Given the description of an element on the screen output the (x, y) to click on. 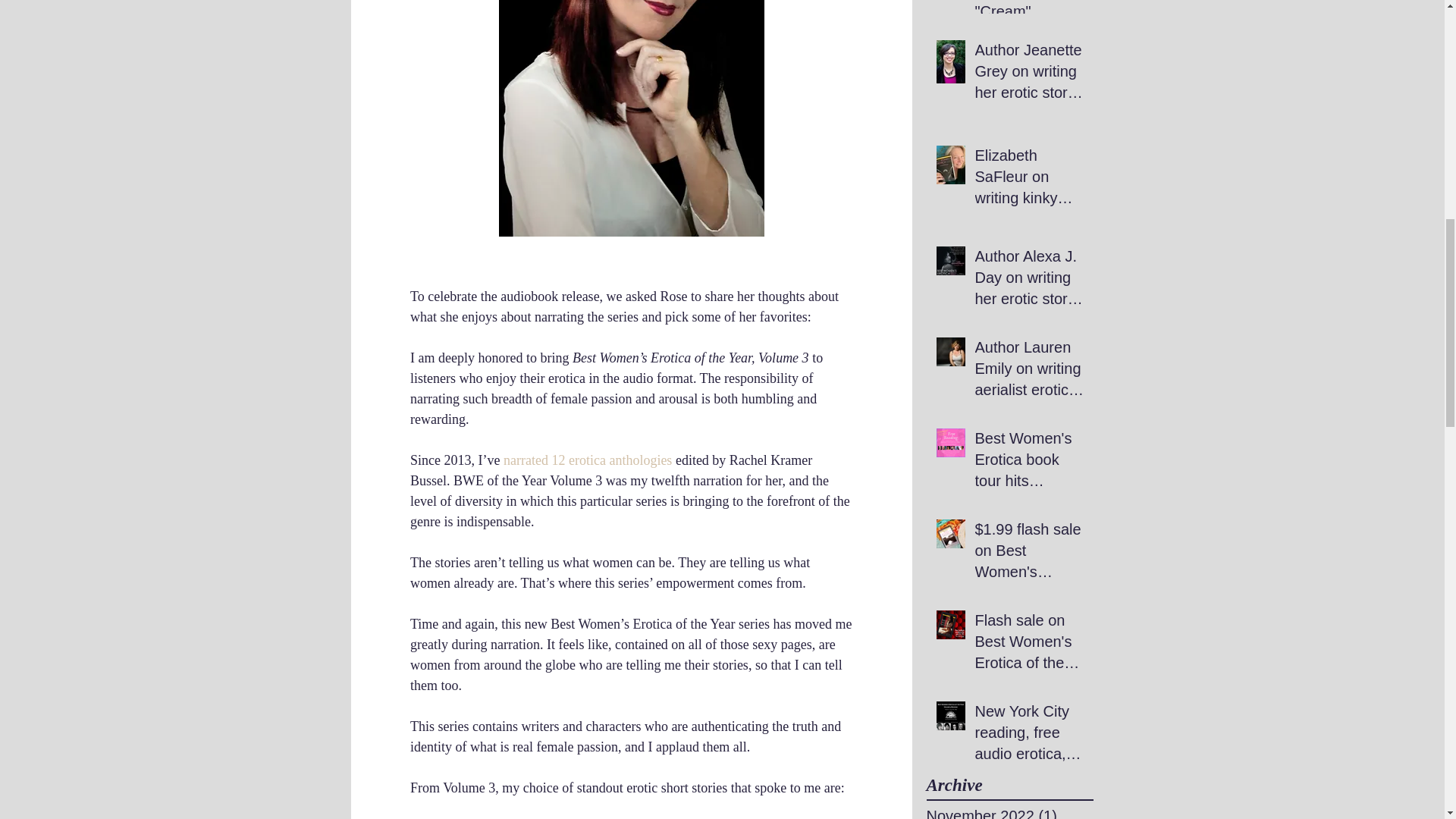
narrated 12 erotica anthologies (586, 459)
Saskia Vogel on her erotic story "Cream" (1029, 13)
